Given the description of an element on the screen output the (x, y) to click on. 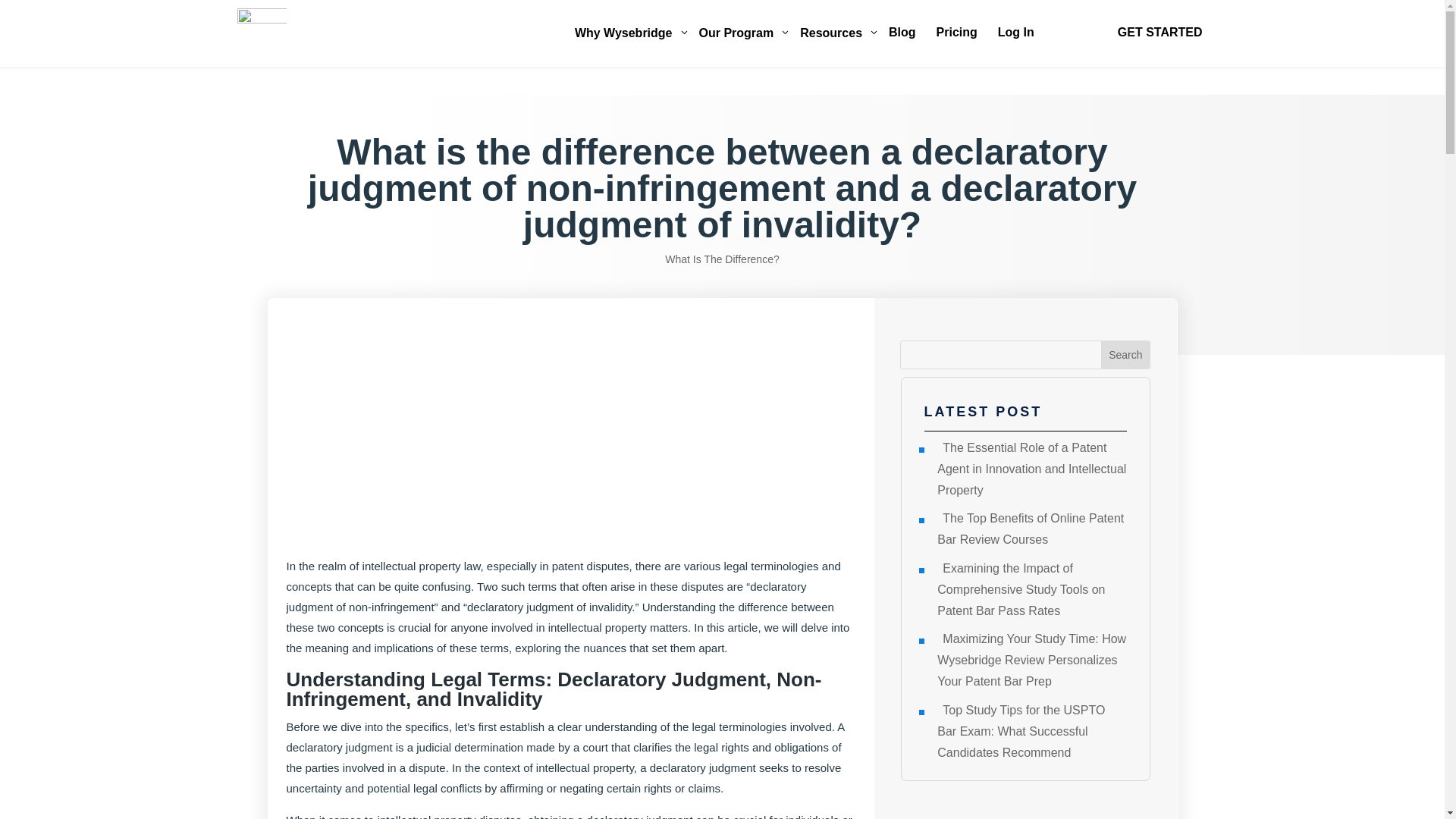
Search (629, 33)
Wysebridge New Blue 80 (1125, 354)
Search (742, 33)
